Given the description of an element on the screen output the (x, y) to click on. 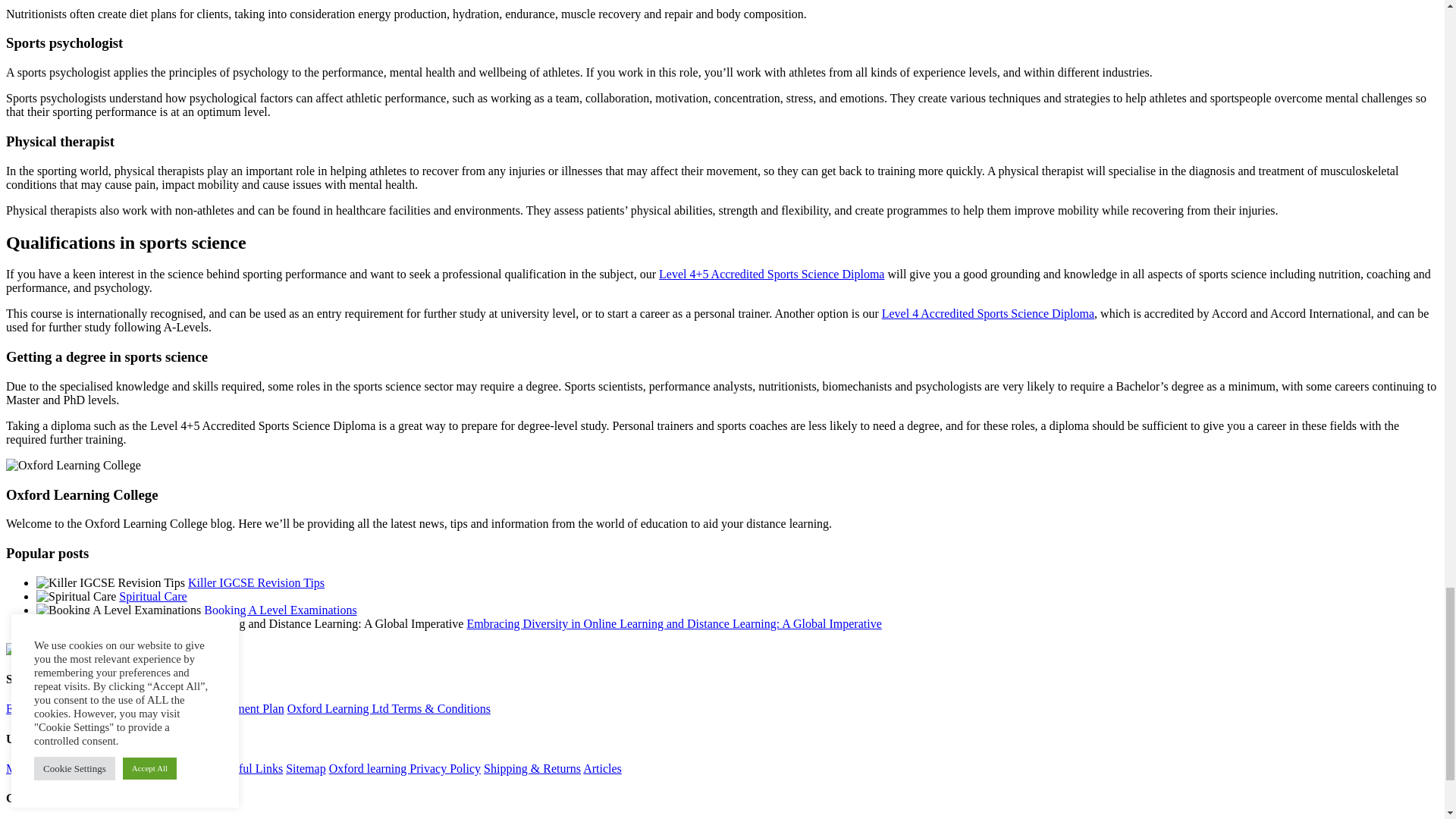
Booking A Level Examinations (279, 609)
Killer IGCSE Revision Tips (255, 582)
Spiritual Care (152, 595)
